Given the description of an element on the screen output the (x, y) to click on. 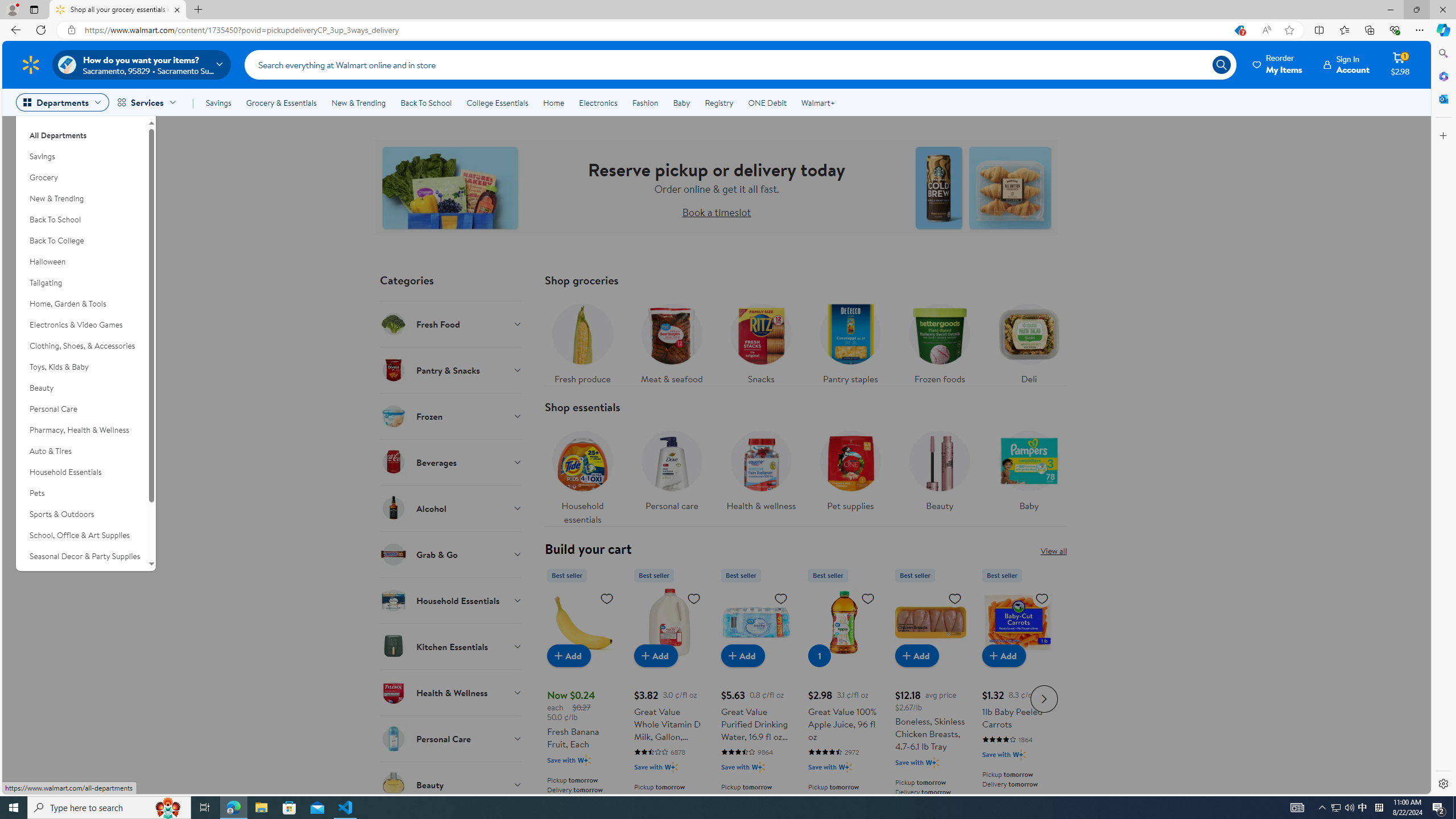
Registry (718, 102)
Toys, Kids & Baby (81, 366)
Personal care (671, 473)
Grocery (81, 177)
Savings (81, 156)
